Given the description of an element on the screen output the (x, y) to click on. 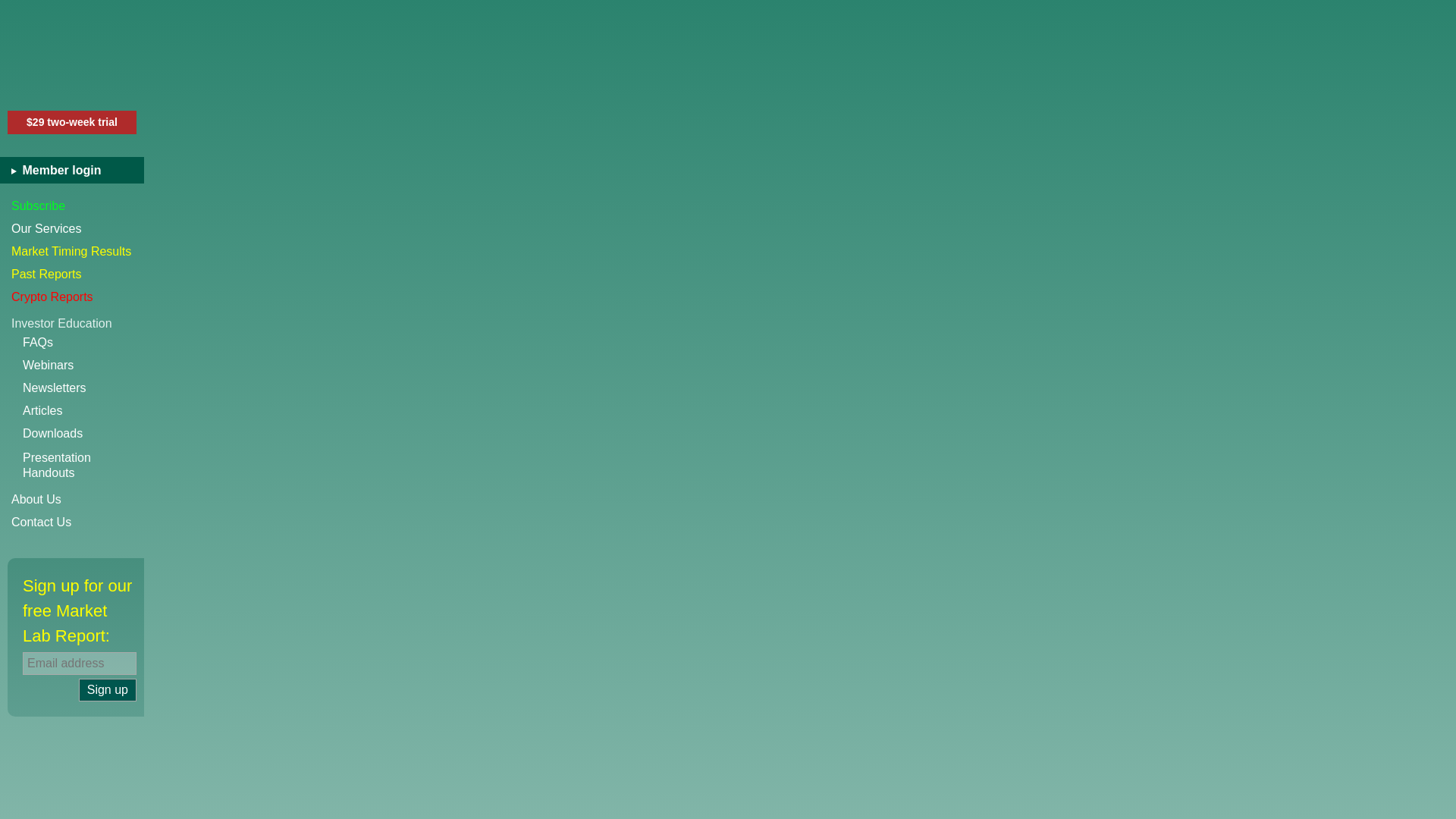
Sign up (107, 689)
Articles (83, 410)
Newsletters (83, 387)
Subscribe (72, 205)
Crypto Reports (72, 296)
Contact Us (72, 522)
Past Reports (72, 273)
Downloads (83, 433)
Webinars (83, 465)
Sign up (83, 364)
Market Timing Results (107, 689)
Member login (72, 251)
About Us (77, 170)
Our Services (72, 499)
